Given the description of an element on the screen output the (x, y) to click on. 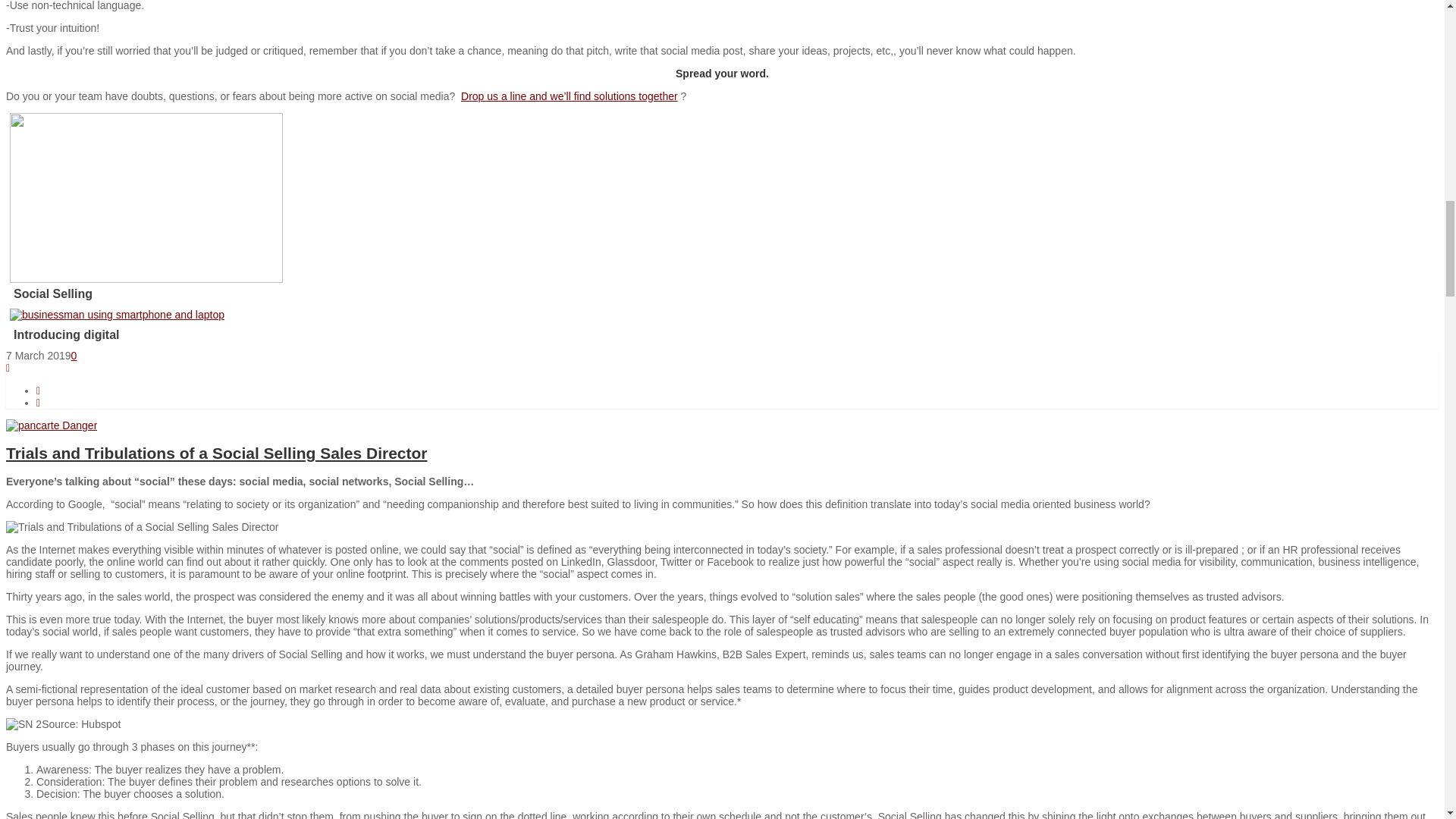
Social Selling (331, 294)
Social Selling (331, 294)
Introducing digital (117, 314)
Introducing digital (331, 335)
Social Selling (146, 278)
